Given the description of an element on the screen output the (x, y) to click on. 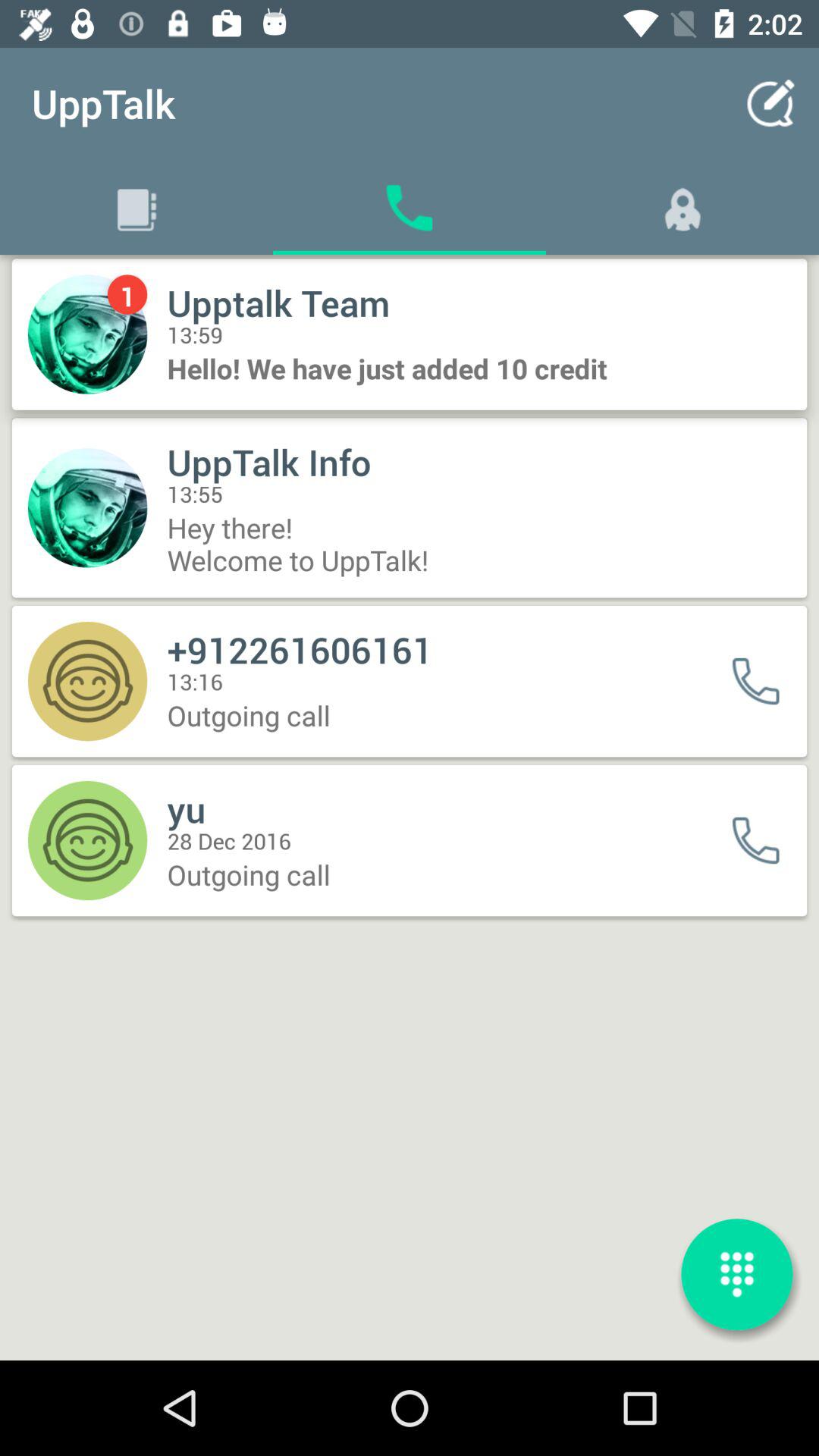
call the person (765, 840)
